Given the description of an element on the screen output the (x, y) to click on. 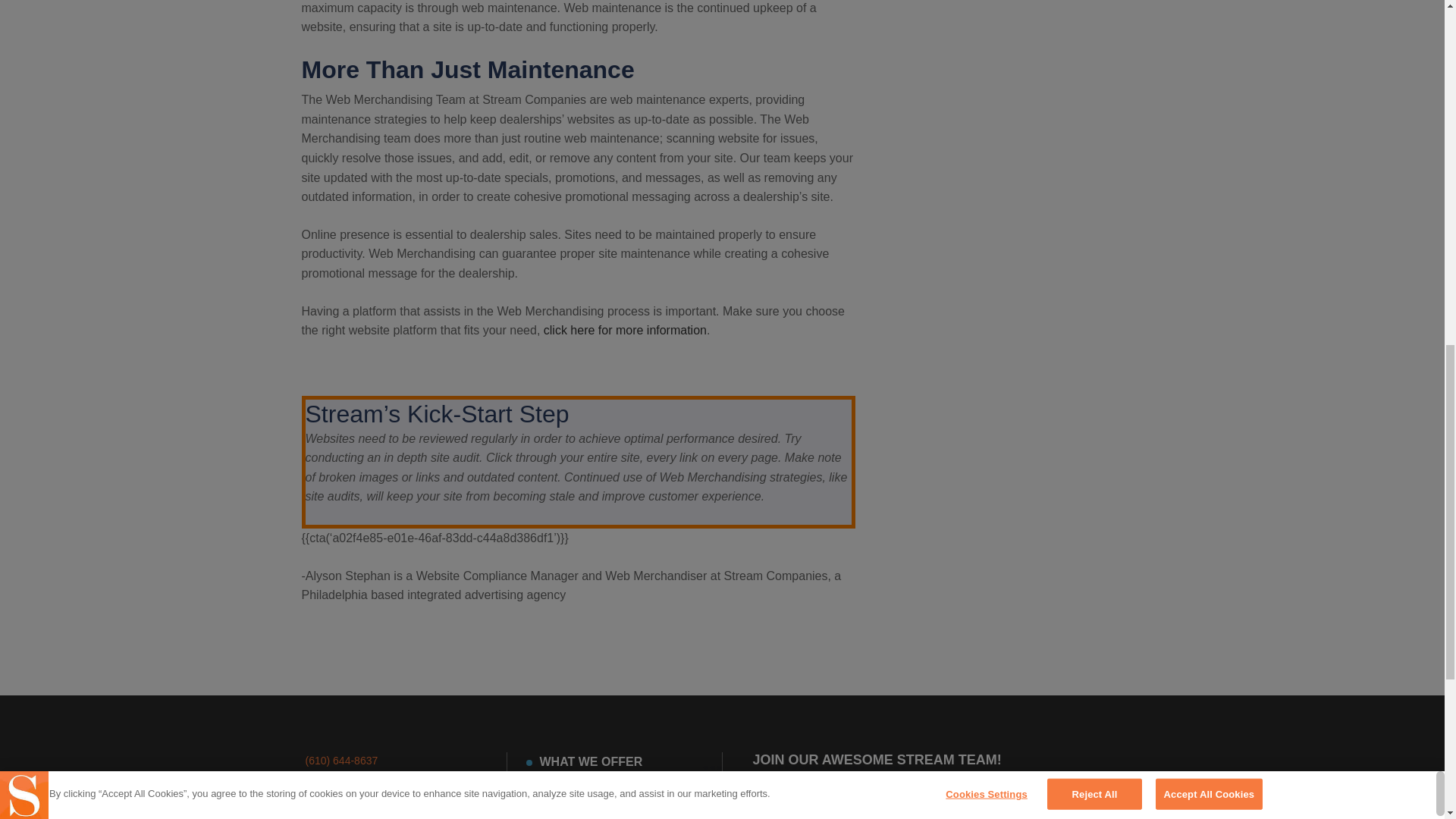
Company Logo (24, 0)
